Given the description of an element on the screen output the (x, y) to click on. 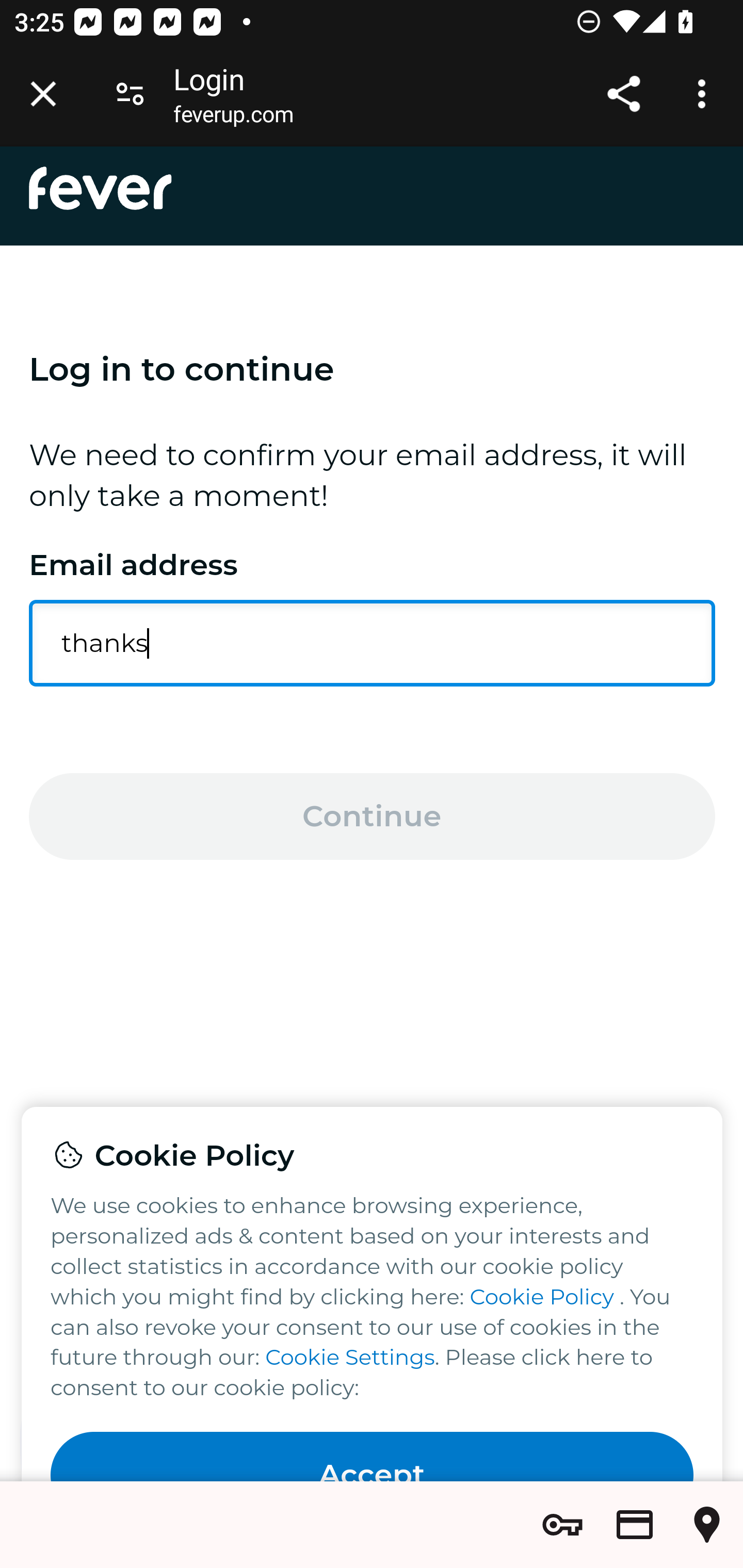
Close tab (43, 93)
Share link address (623, 93)
Customize and control Google Chrome (705, 93)
Connection is secure (129, 93)
feverup.com (233, 117)
en (100, 187)
thanks (372, 642)
Continue (372, 816)
Cookie Policy (541, 1295)
Cookie Settings (348, 1357)
Accept (372, 1456)
Show saved passwords and password options (562, 1524)
Show saved payment methods (634, 1524)
Show saved addresses (706, 1524)
